Given the description of an element on the screen output the (x, y) to click on. 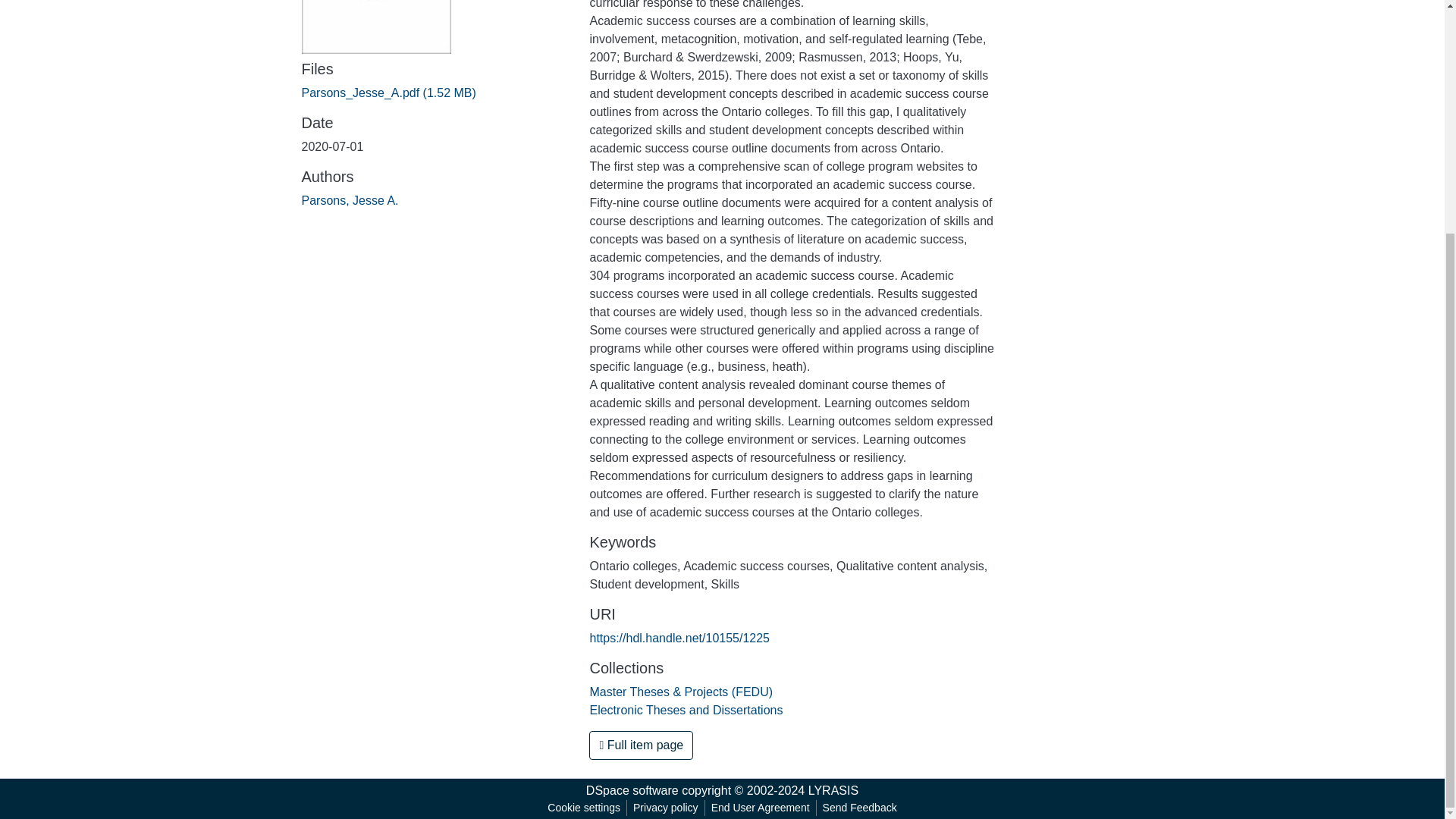
Full item page (641, 745)
Send Feedback (859, 807)
Parsons, Jesse A. (349, 200)
End User Agreement (759, 807)
Cookie settings (583, 807)
DSpace software (632, 789)
Privacy policy (665, 807)
LYRASIS (833, 789)
Electronic Theses and Dissertations (686, 709)
